Given the description of an element on the screen output the (x, y) to click on. 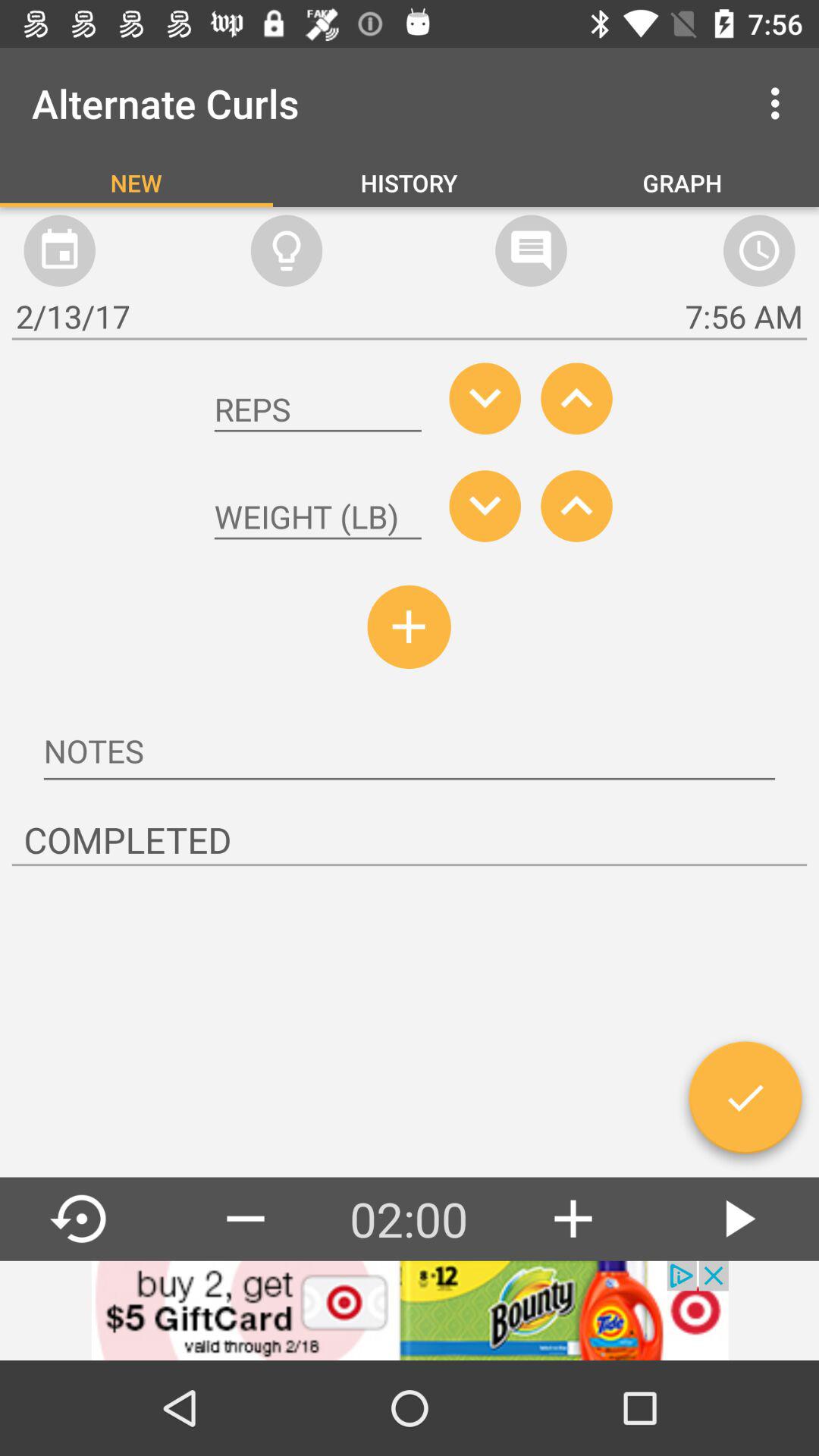
select the reps (317, 409)
